Given the description of an element on the screen output the (x, y) to click on. 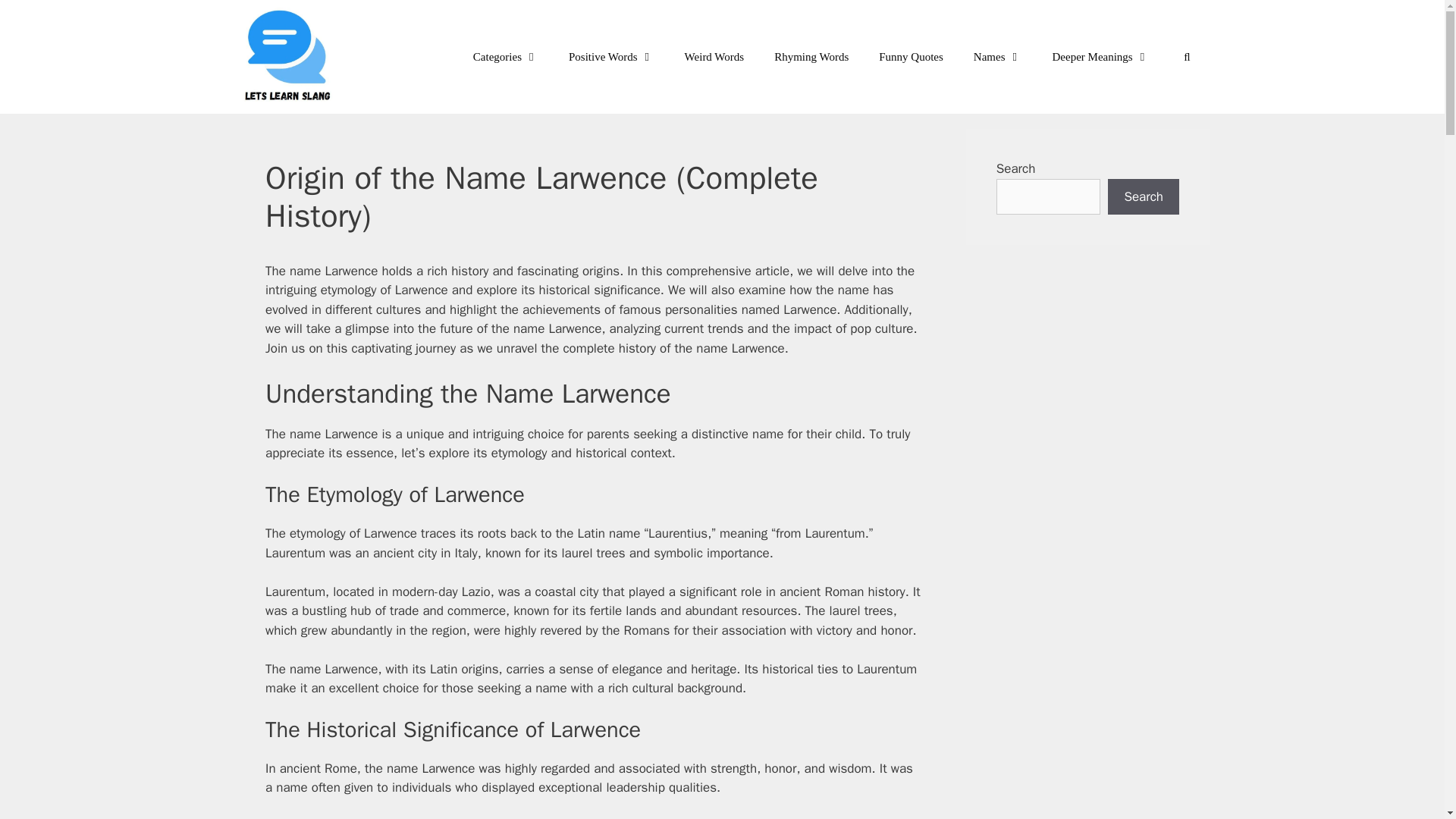
Lets Learn Slang (292, 56)
Weird Words (714, 56)
Positive Words (611, 56)
Rhyming Words (810, 56)
Funny Quotes (910, 56)
Names (997, 56)
Categories (505, 56)
Lets Learn Slang (288, 56)
